Given the description of an element on the screen output the (x, y) to click on. 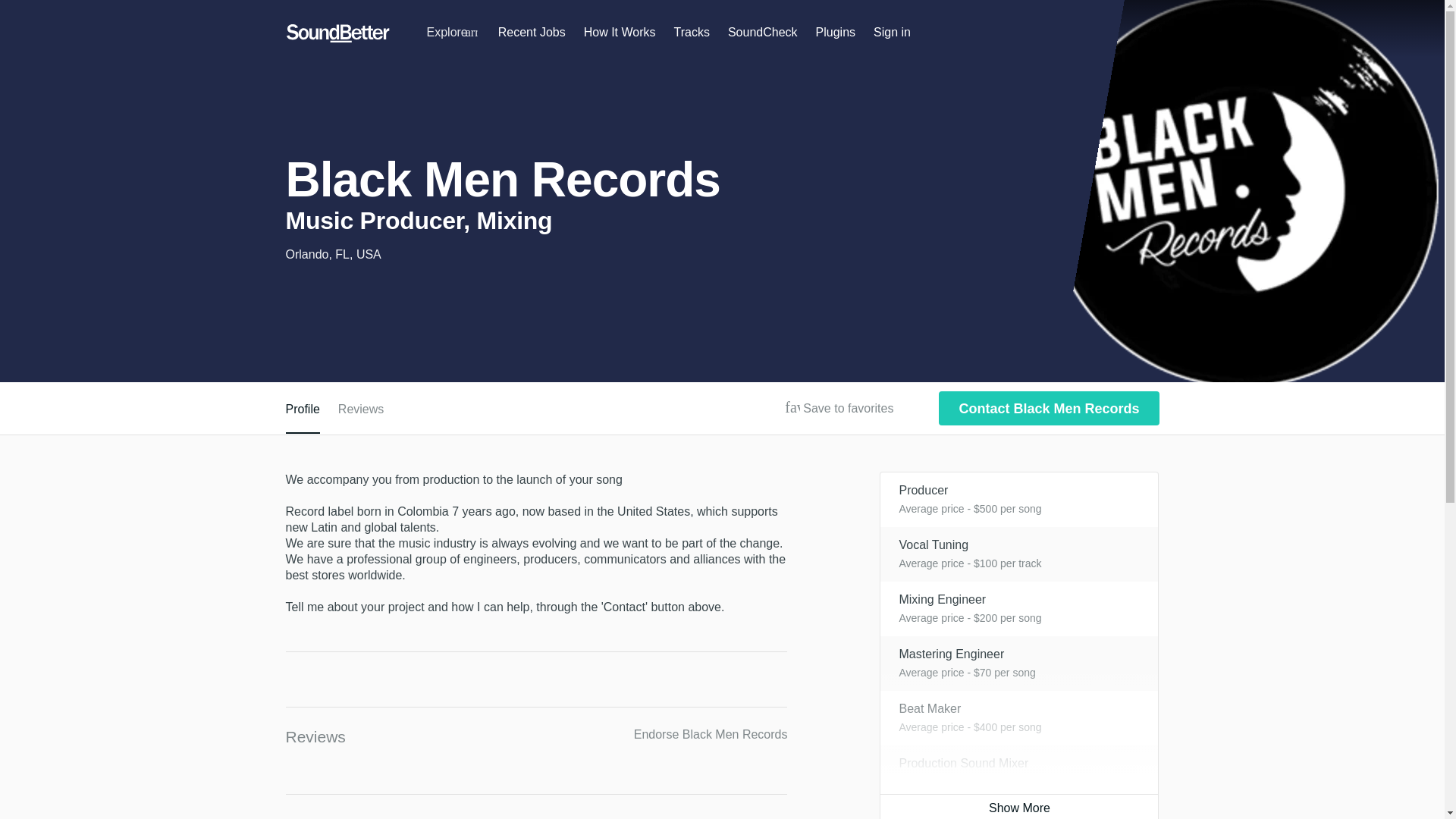
SoundBetter (337, 33)
